Given the description of an element on the screen output the (x, y) to click on. 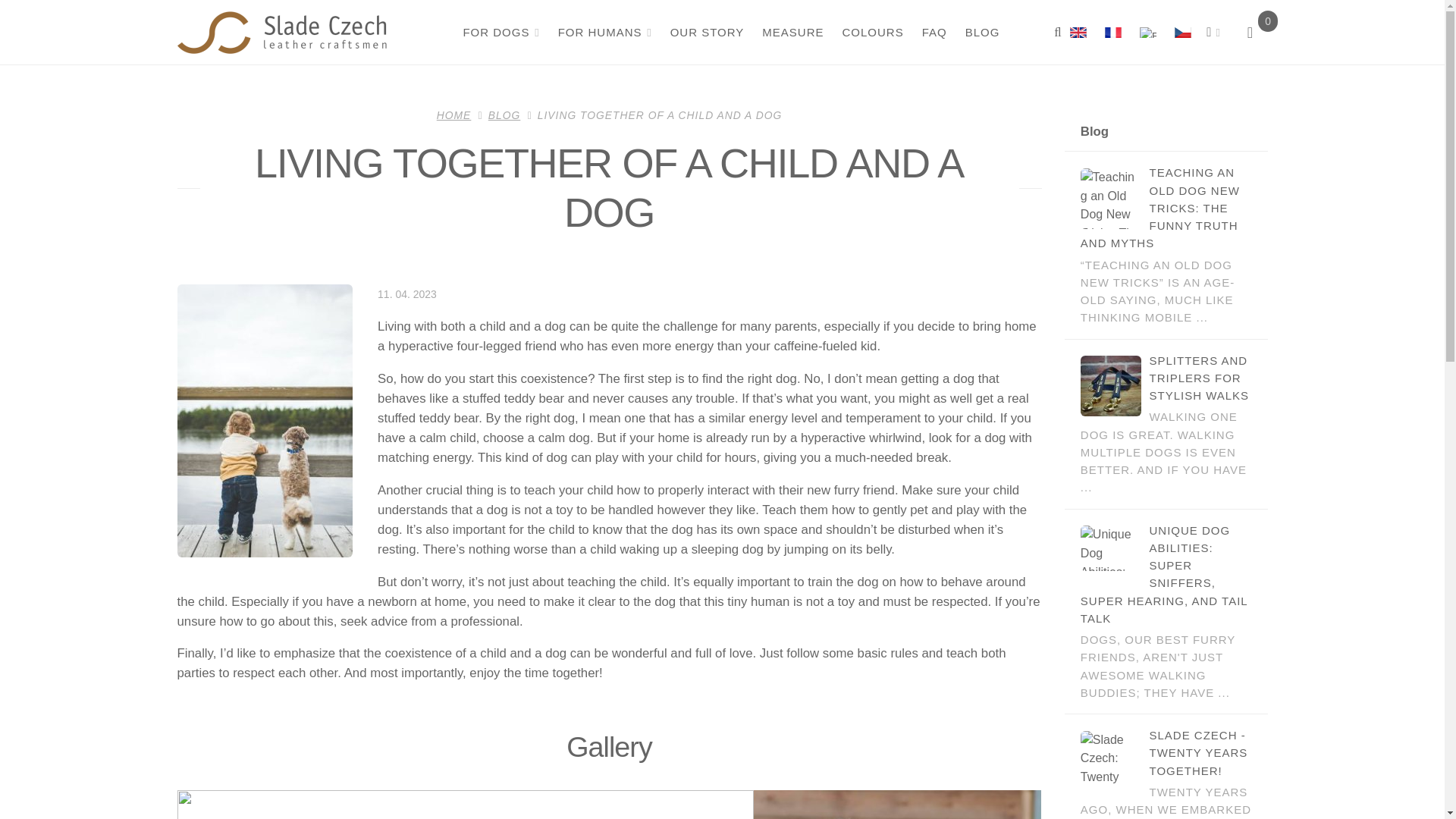
FOR DOGS (499, 32)
French (1113, 32)
Home (282, 32)
English (1146, 32)
Czech (1180, 32)
English (1078, 32)
English (1148, 32)
MEASURE (791, 32)
OUR STORY (705, 32)
BLOG (981, 32)
SEARCH (1056, 31)
French (1111, 32)
English (1082, 32)
FAQ (933, 32)
FOR HUMANS (603, 32)
